Given the description of an element on the screen output the (x, y) to click on. 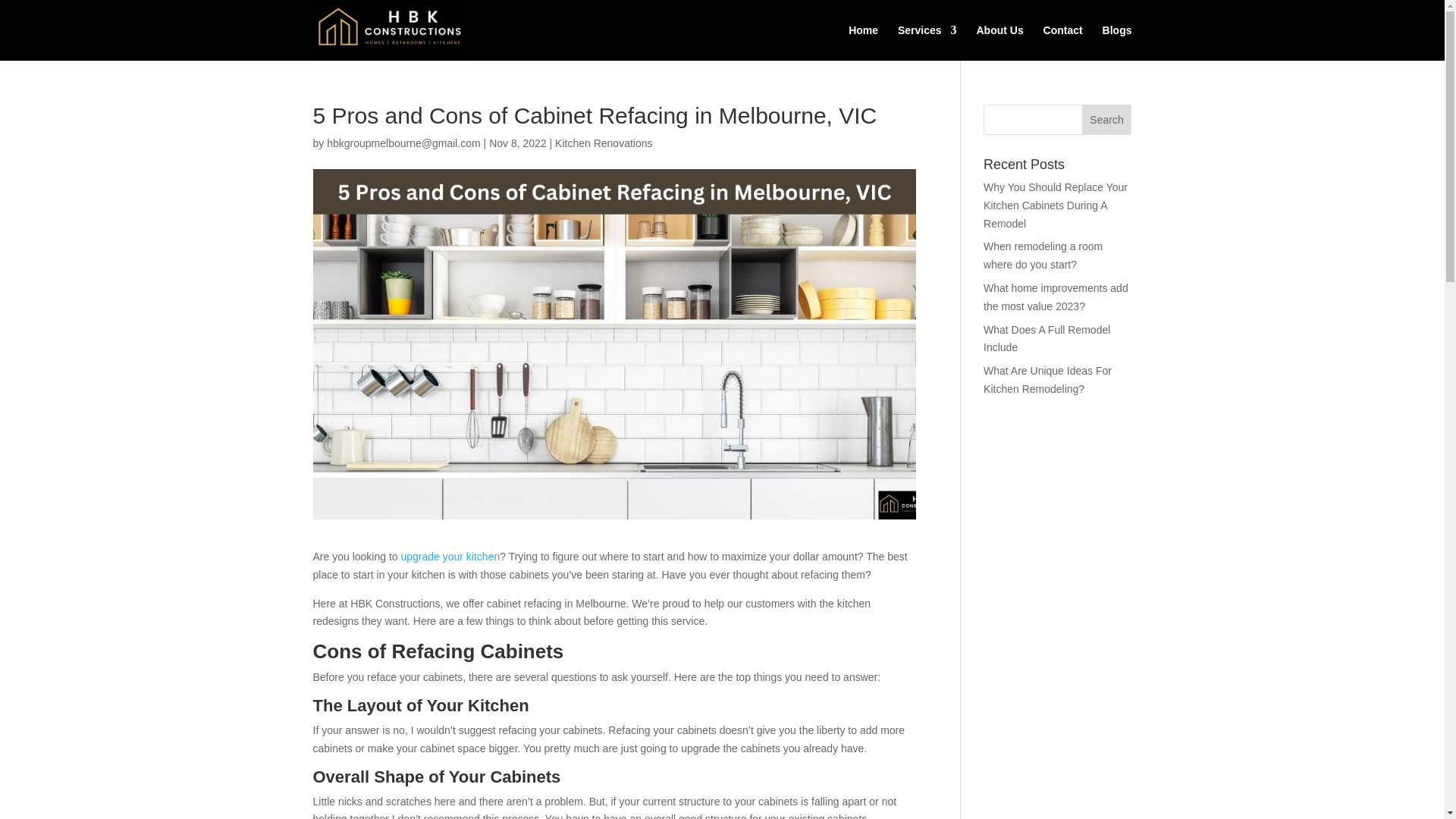
upgrade your kitchen (449, 556)
Contact (1063, 42)
What home improvements add the most value 2023? (1056, 296)
Search (1106, 119)
Search (1106, 119)
Services (927, 42)
What Are Unique Ideas For Kitchen Remodeling? (1048, 379)
When remodeling a room where do you start? (1043, 255)
About Us (999, 42)
Kitchen Renovations (603, 143)
What Does A Full Remodel Include (1046, 338)
